Given the description of an element on the screen output the (x, y) to click on. 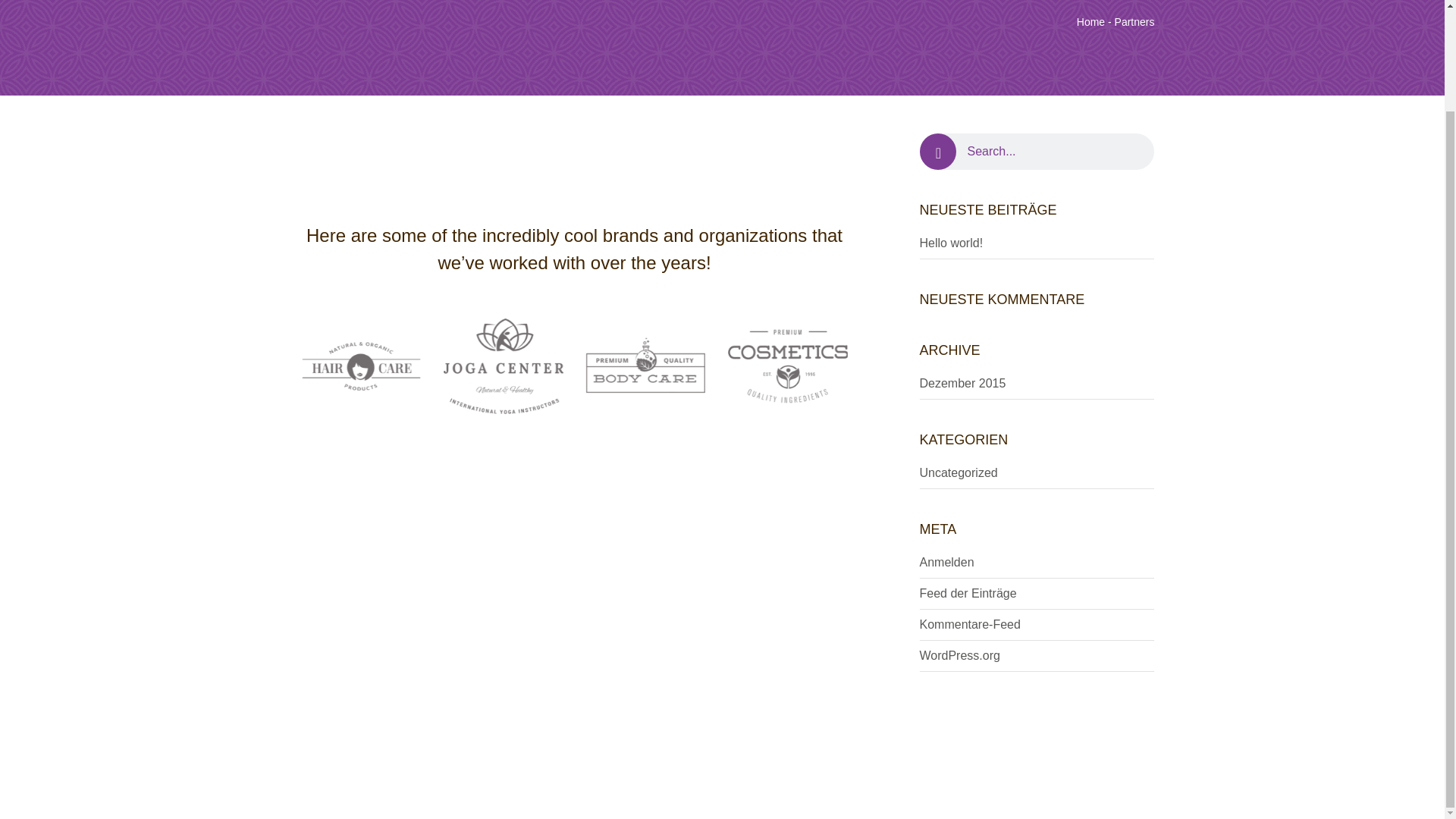
Kommentare-Feed (969, 624)
Dezember 2015 (962, 382)
Hello world! (950, 242)
Anmelden (946, 562)
Home (1091, 21)
Uncategorized (957, 472)
WordPress.org (958, 655)
